Given the description of an element on the screen output the (x, y) to click on. 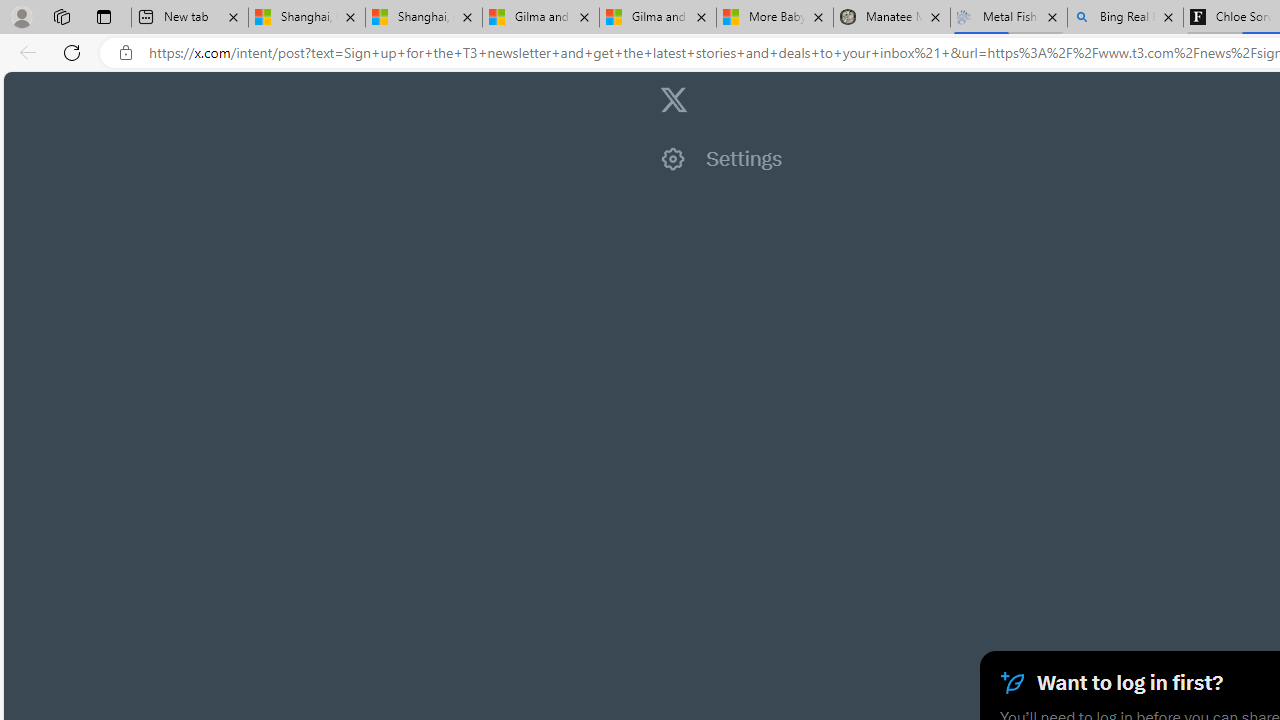
Bing Real Estate - Home sales and rental listings (1124, 17)
Manatee Mortality Statistics | FWC (891, 17)
